Given the description of an element on the screen output the (x, y) to click on. 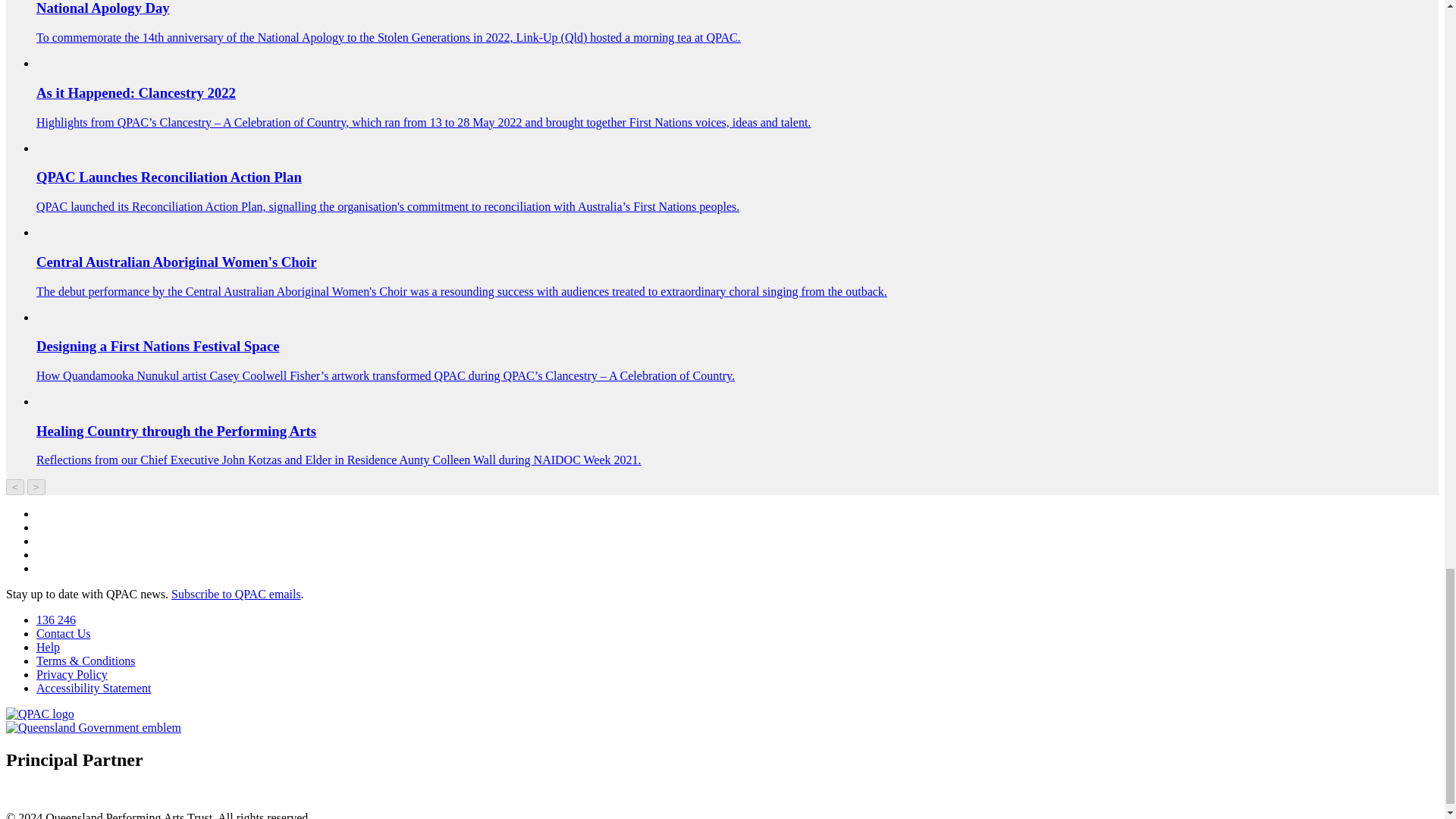
Call QTIX Call Centre (55, 619)
